Given the description of an element on the screen output the (x, y) to click on. 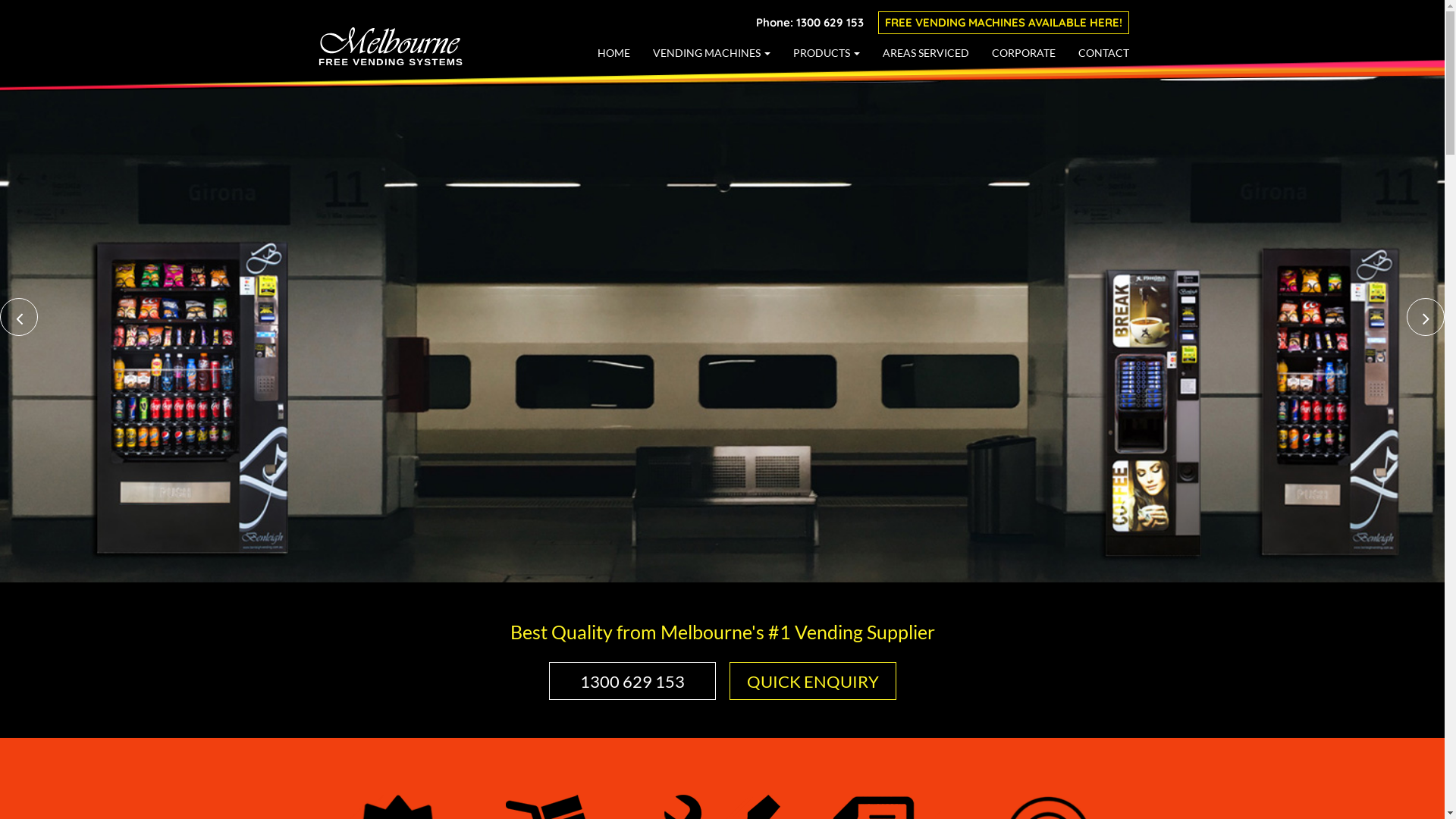
AREAS SERVICED Element type: text (925, 51)
FREE VENDING MACHINES AVAILABLE HERE! Element type: text (1003, 22)
CONTACT Element type: text (1103, 51)
PRODUCTS Element type: text (826, 51)
1300 629 153 Element type: text (632, 680)
Phone: 1300 629 153 Element type: text (809, 22)
CORPORATE Element type: text (1023, 51)
HOME Element type: text (613, 51)
QUICK ENQUIRY Element type: text (812, 680)
VENDING MACHINES Element type: text (711, 51)
